Given the description of an element on the screen output the (x, y) to click on. 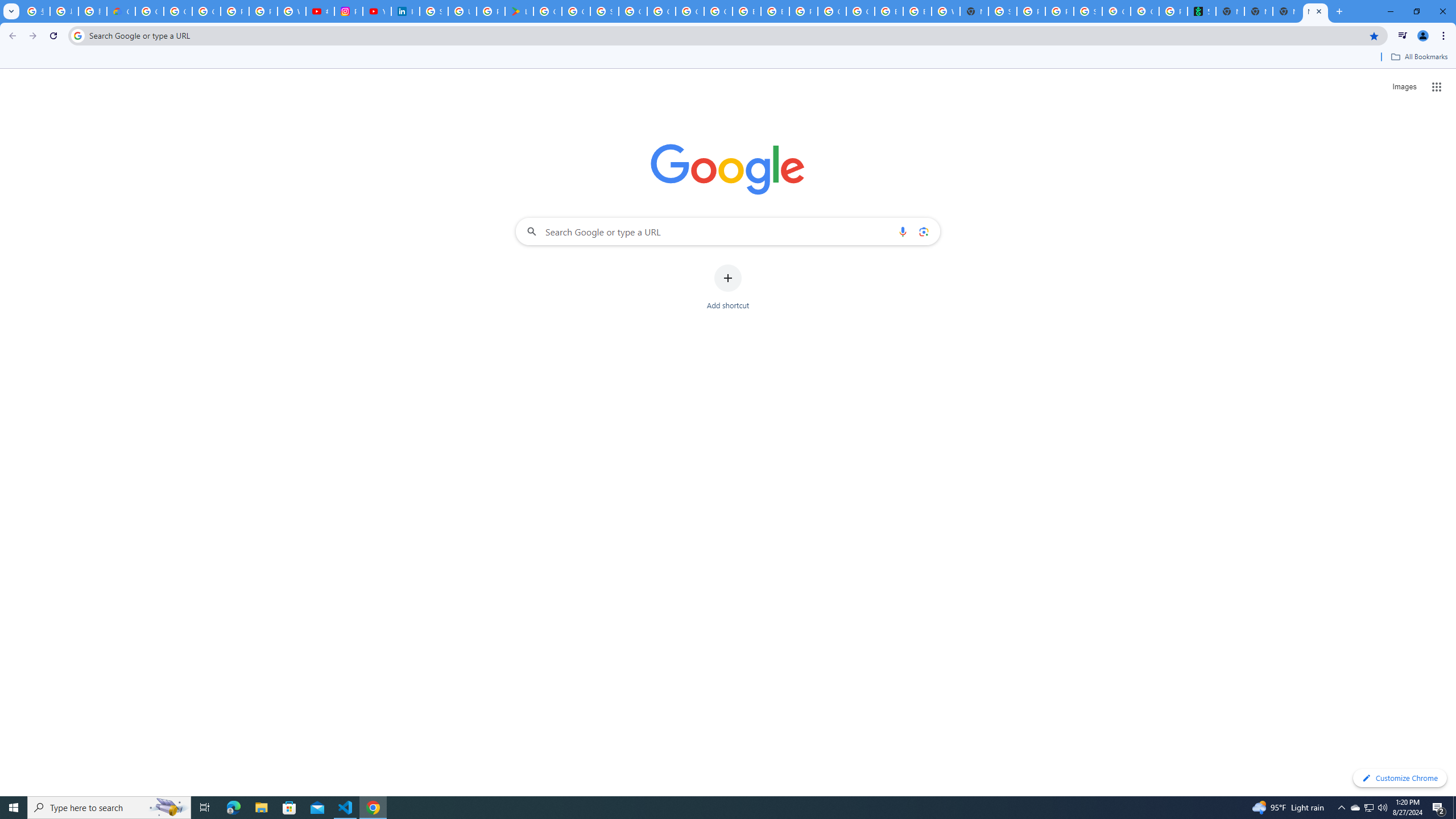
YouTube Culture & Trends - On The Rise: Handcam Videos (377, 11)
#nbabasketballhighlights - YouTube (320, 11)
Sign in - Google Accounts (604, 11)
